Given the description of an element on the screen output the (x, y) to click on. 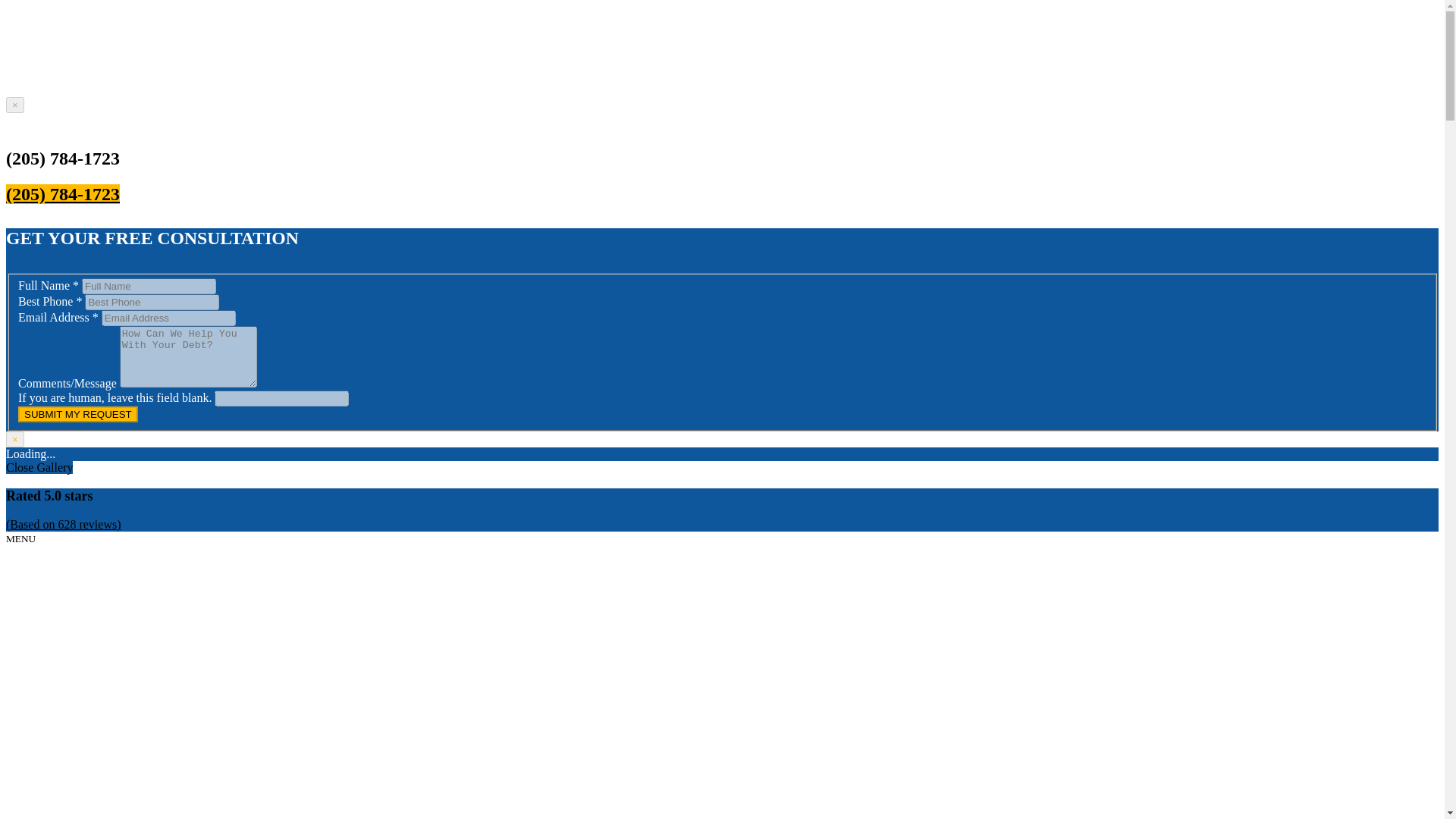
SUBMIT MY REQUEST (77, 414)
